Given the description of an element on the screen output the (x, y) to click on. 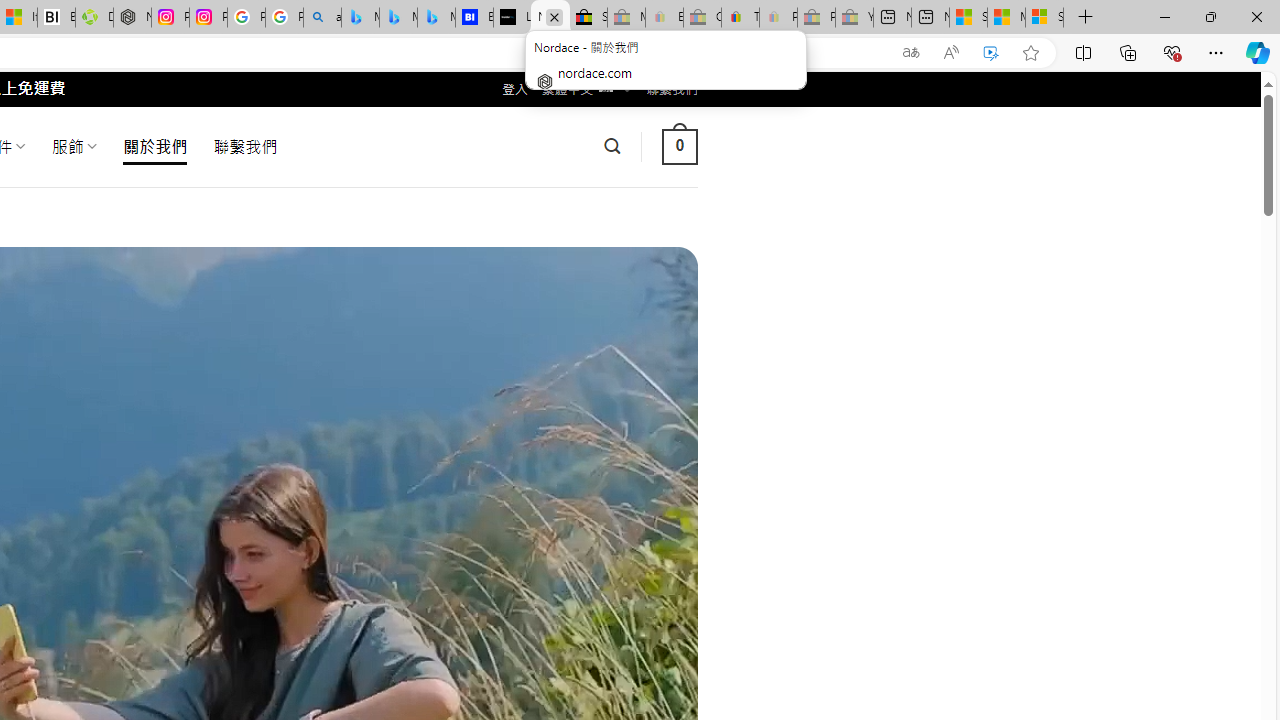
Threats and offensive language policy | eBay (740, 17)
Microsoft Bing Travel - Shangri-La Hotel Bangkok (436, 17)
  0   (679, 146)
